Given the description of an element on the screen output the (x, y) to click on. 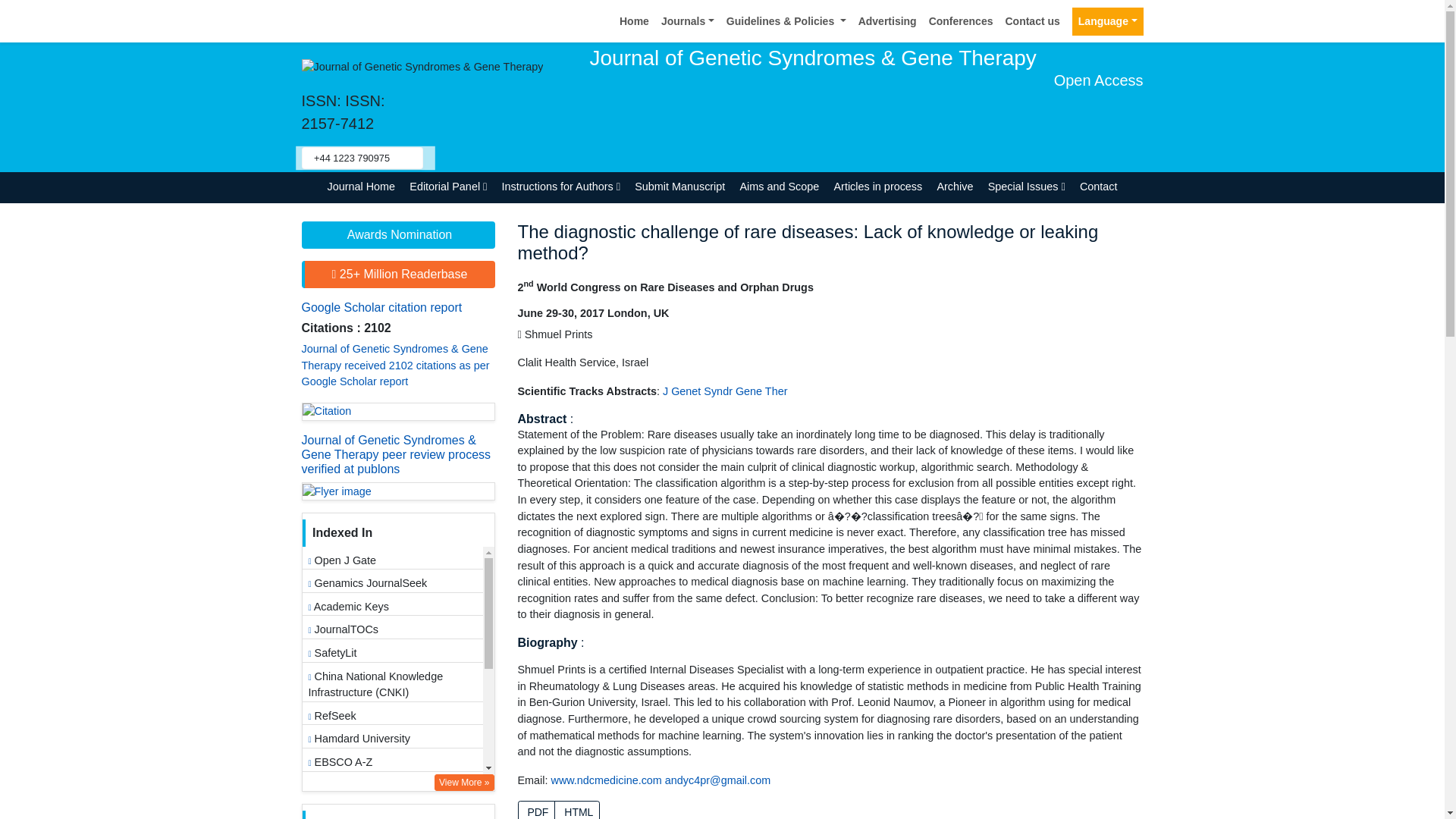
Language (1106, 21)
Journal Home (361, 187)
Archive (954, 187)
Instructions for Authors (561, 187)
Advertising (887, 21)
Articles in process (878, 187)
Editorial Panel (449, 187)
Contact us (1031, 21)
Conferences (960, 21)
Conferences (960, 21)
